Given the description of an element on the screen output the (x, y) to click on. 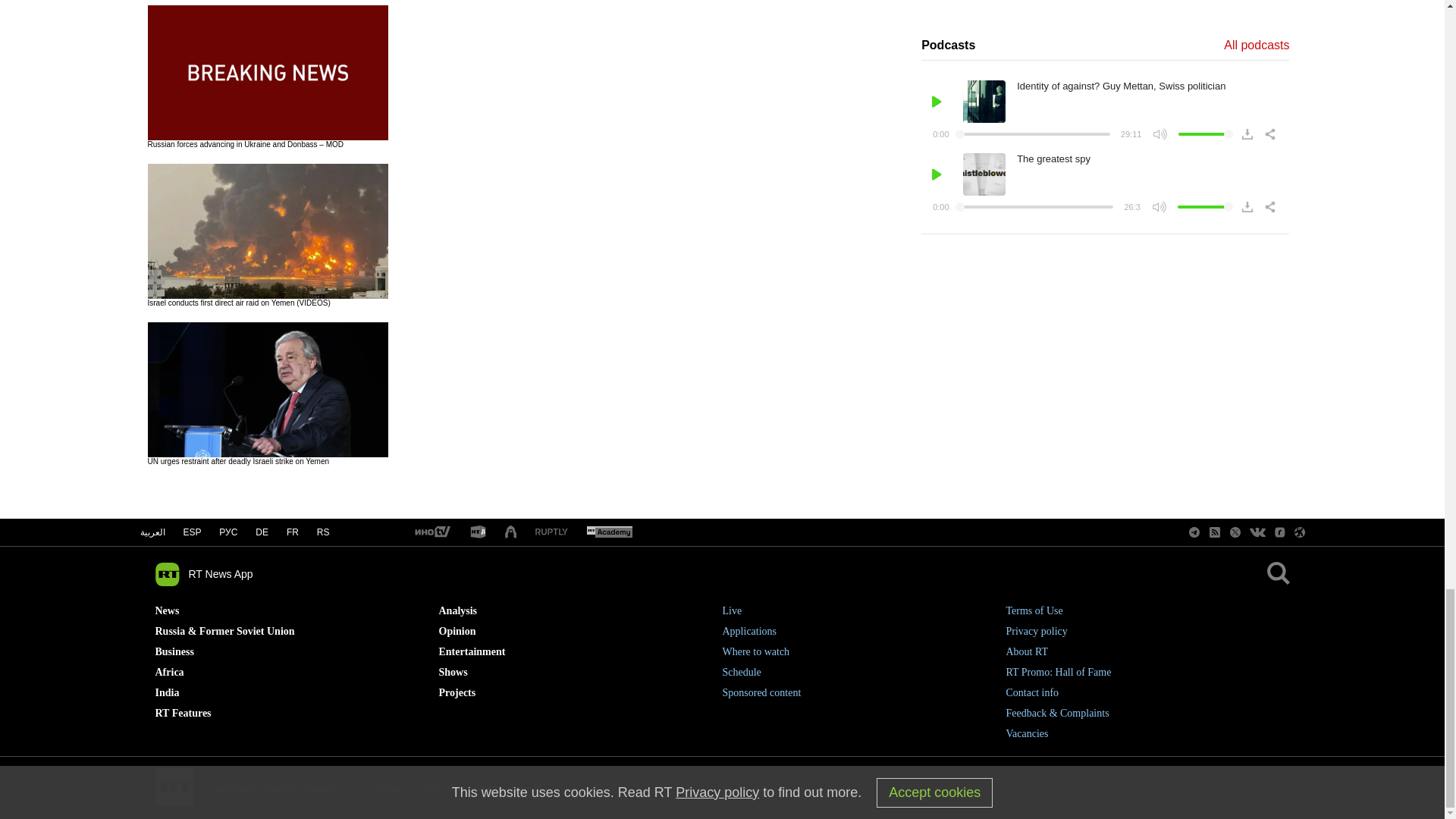
RT  (478, 532)
RT  (551, 532)
RT  (608, 532)
RT  (431, 532)
